Given the description of an element on the screen output the (x, y) to click on. 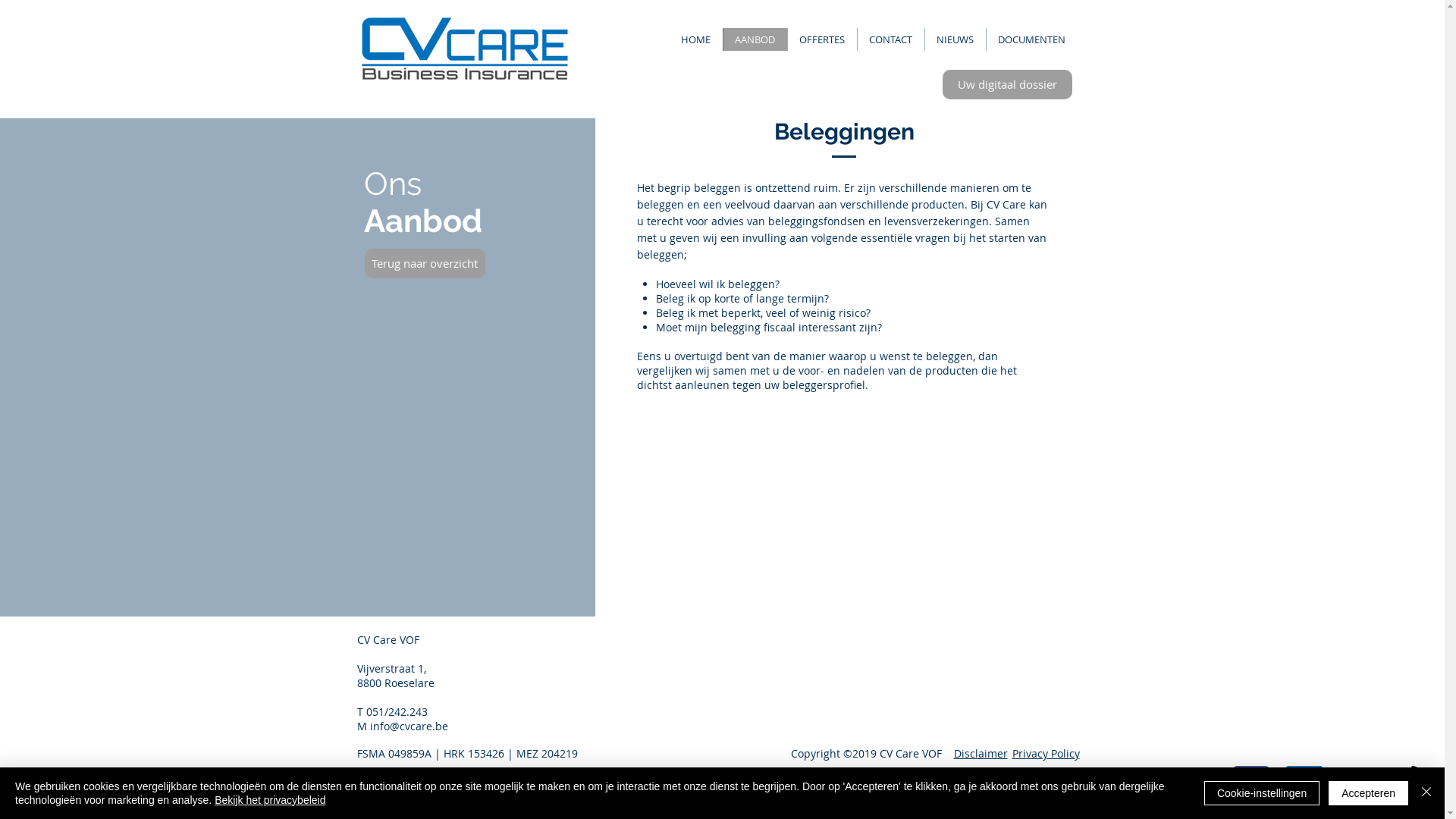
HOME Element type: text (694, 39)
CONTACT Element type: text (890, 39)
Disclaimer Element type: text (980, 753)
AANBOD Element type: text (753, 39)
Privacy Policy Element type: text (1045, 753)
OFFERTES Element type: text (821, 39)
NIEUWS Element type: text (954, 39)
Accepteren Element type: text (1368, 793)
DOCUMENTEN Element type: text (1031, 39)
Terug naar overzicht Element type: text (424, 263)
Cookie-instellingen Element type: text (1261, 793)
Bekijk het privacybeleid Element type: text (269, 799)
info@cvcare.be Element type: text (409, 725)
Uw digitaal dossier Element type: text (1006, 84)
